Given the description of an element on the screen output the (x, y) to click on. 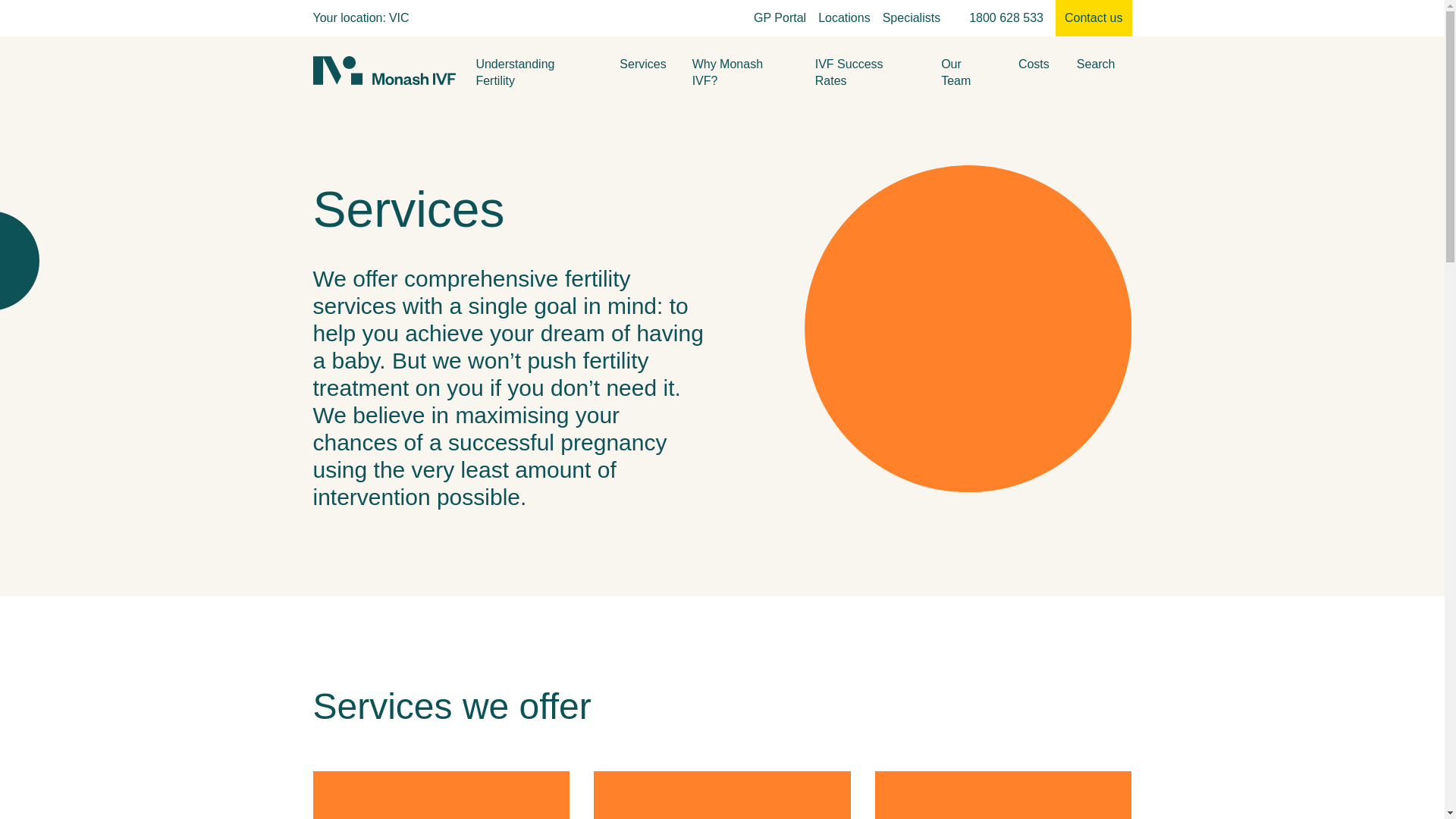
1800 628 533 (1006, 18)
Locations (844, 18)
Monash IVF Australia (384, 70)
GP Portal (780, 18)
Specialists (911, 18)
Contact us (1093, 18)
